Given the description of an element on the screen output the (x, y) to click on. 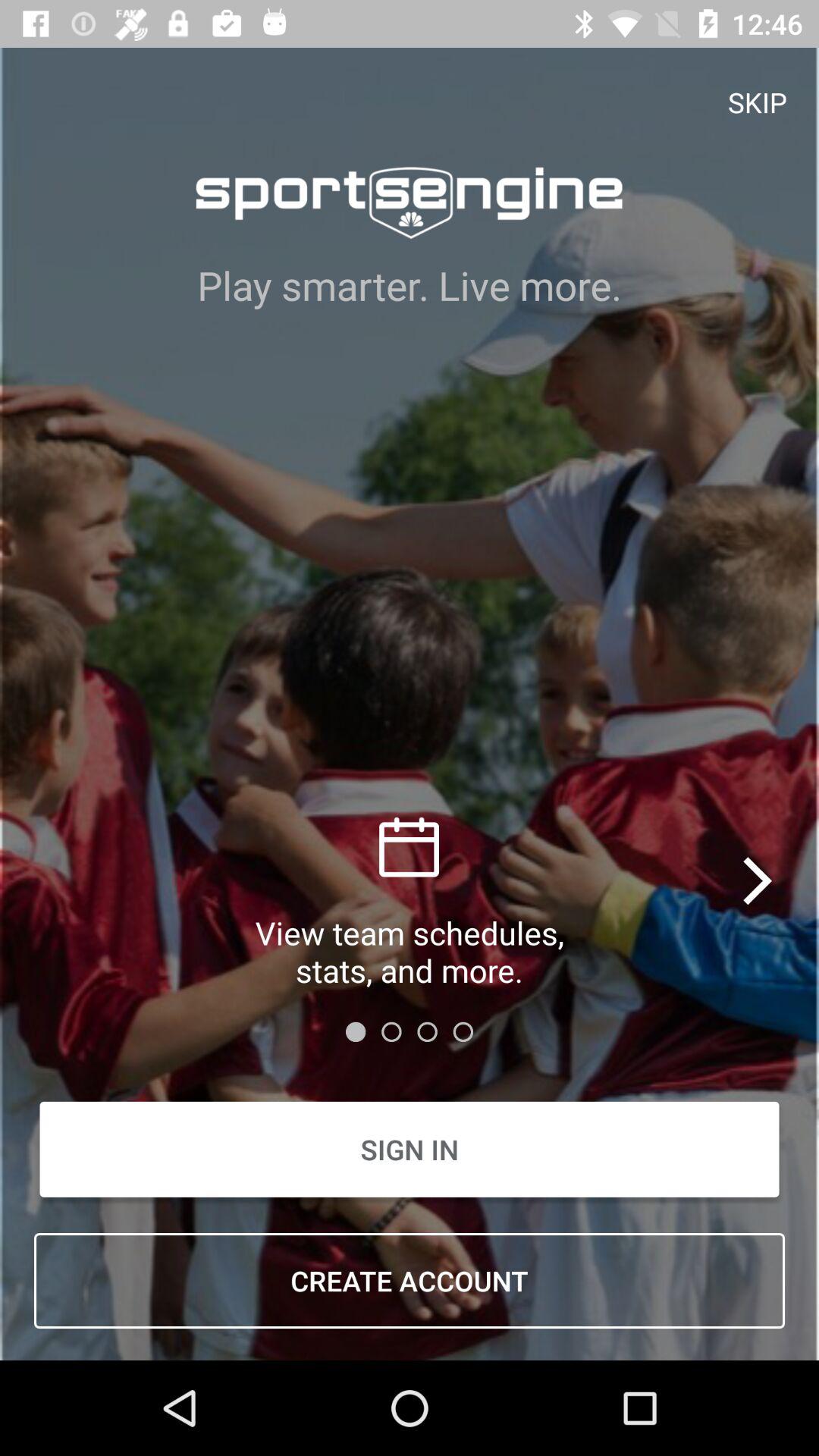
open item at the top right corner (757, 102)
